Given the description of an element on the screen output the (x, y) to click on. 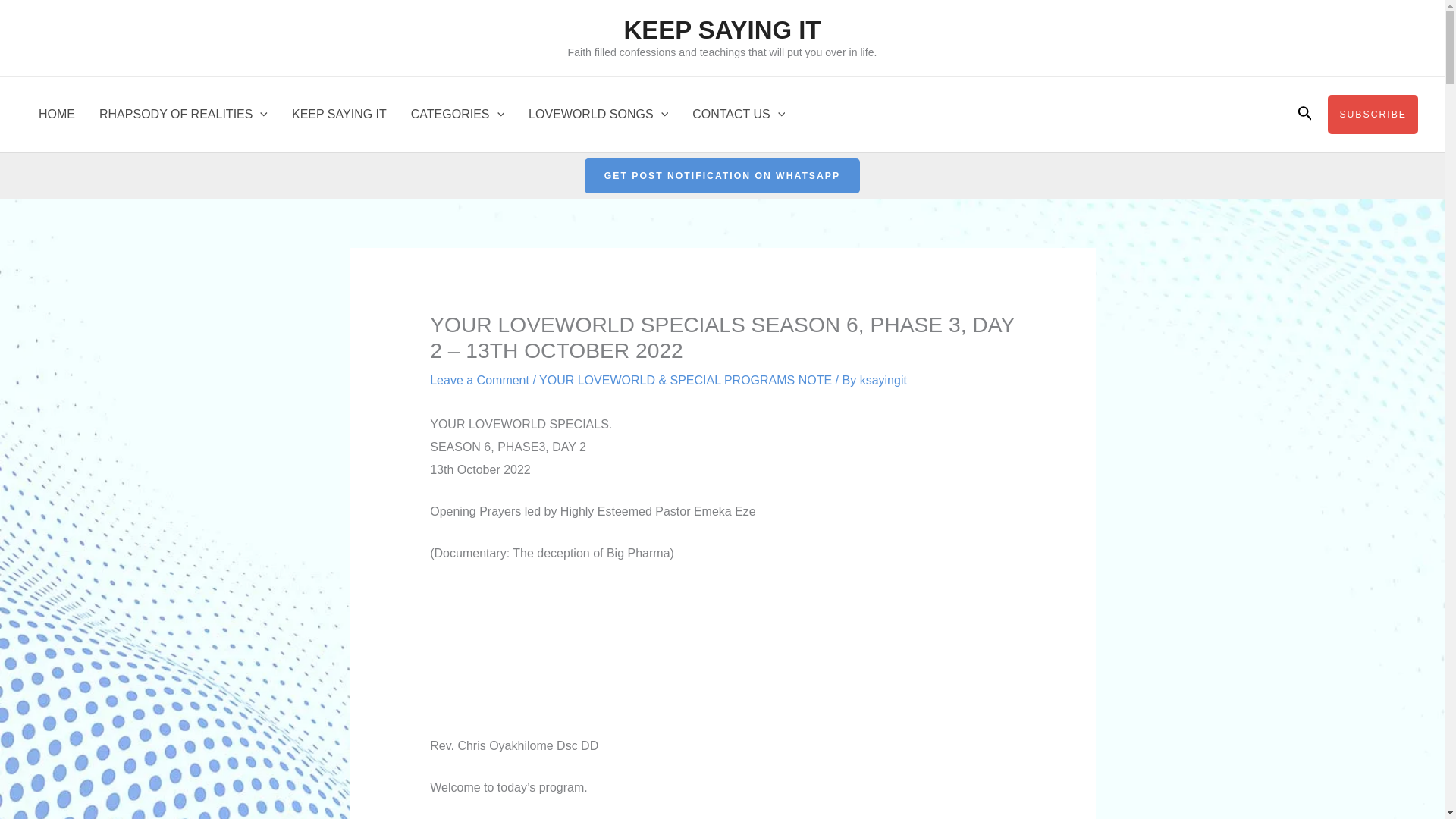
LOVEWORLD SONGS (597, 114)
RHAPSODY OF REALITIES (183, 114)
KEEP SAYING IT (338, 114)
Leave a Comment (479, 379)
ksayingit (883, 379)
CONTACT US (737, 114)
GET POST NOTIFICATION ON WHATSAPP (722, 175)
View all posts by ksayingit (883, 379)
CATEGORIES (457, 114)
Advertisement (722, 656)
KEEP SAYING IT (722, 29)
SUBSCRIBE (1372, 115)
